Given the description of an element on the screen output the (x, y) to click on. 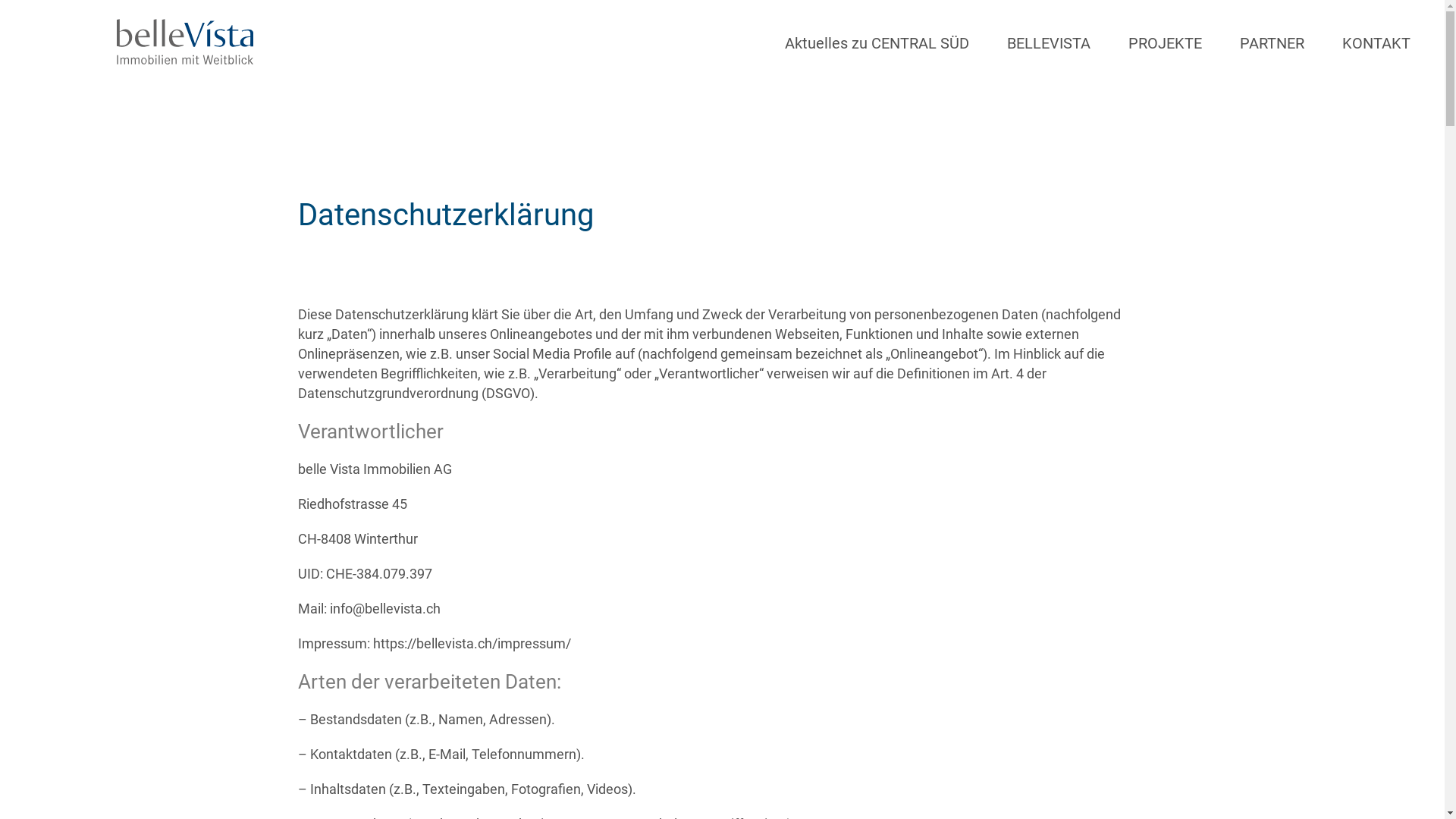
BELLEVISTA Element type: text (1048, 24)
PROJEKTE Element type: text (1165, 24)
PARTNER Element type: text (1271, 24)
belleVista Immobilien AG Element type: hover (126, 65)
KONTAKT Element type: text (1375, 24)
